Given the description of an element on the screen output the (x, y) to click on. 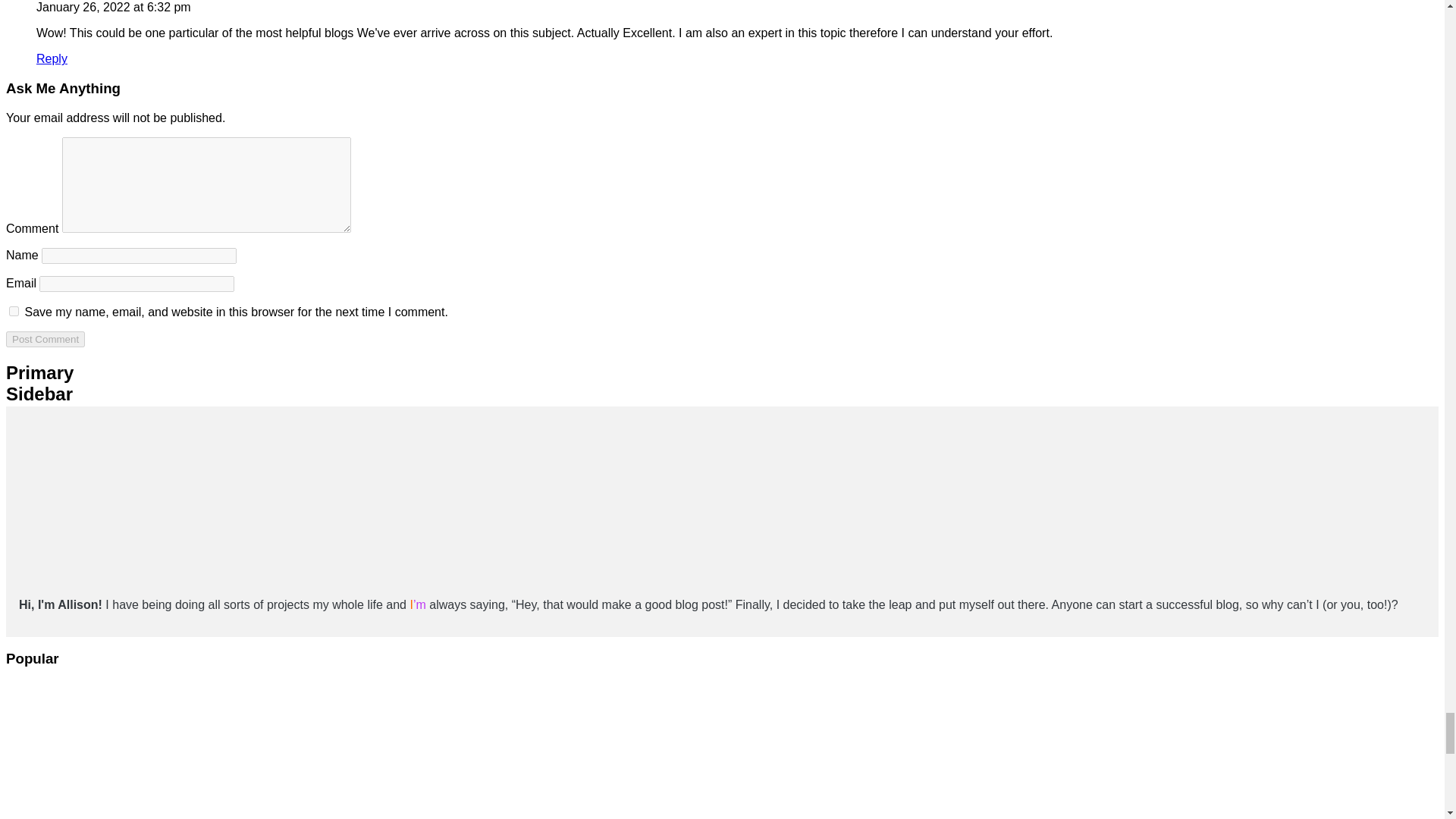
Post Comment (44, 339)
yes (13, 311)
